Given the description of an element on the screen output the (x, y) to click on. 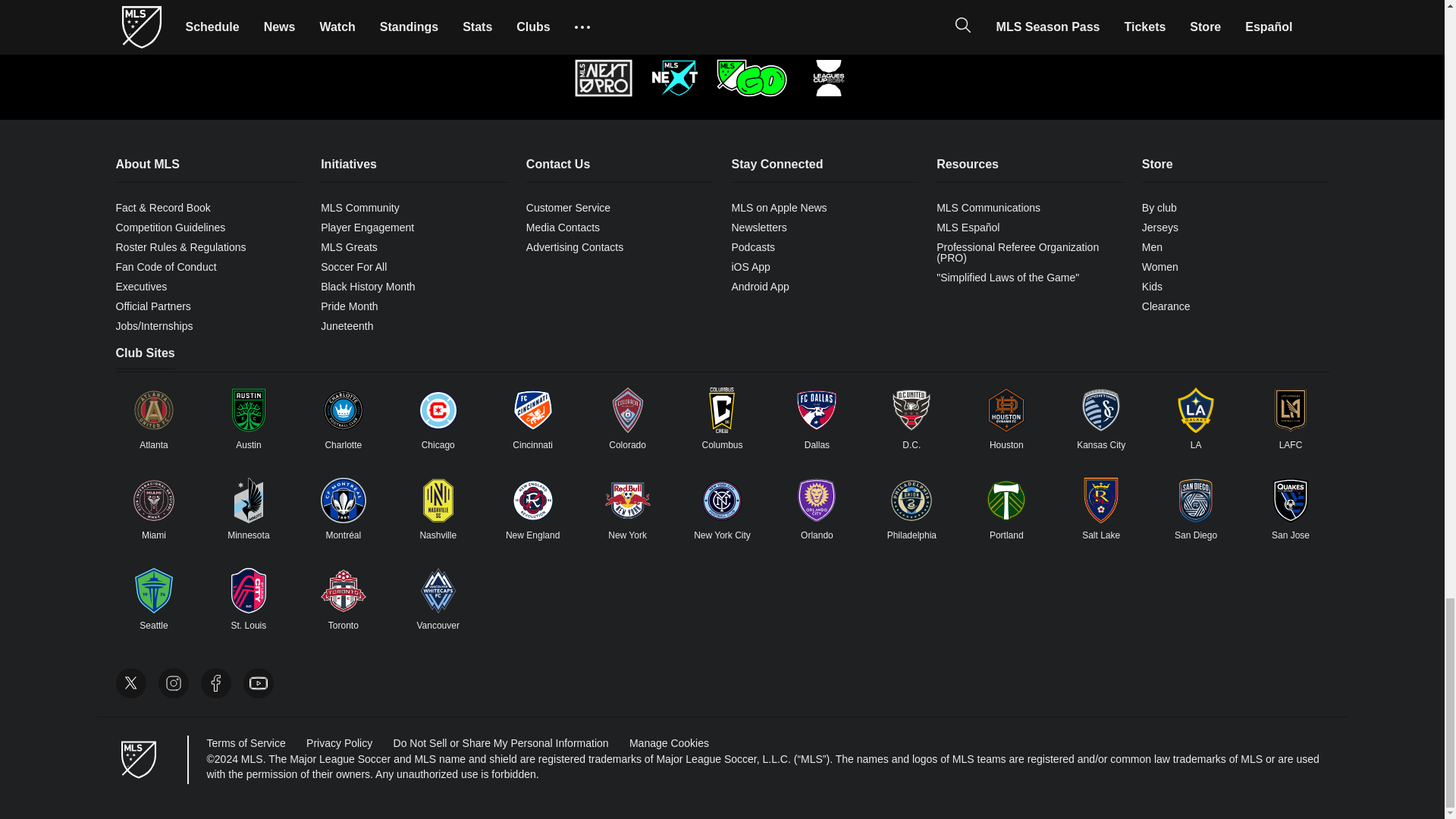
Link to Austin (247, 410)
Link to Charlotte (343, 410)
Link to Colorado (627, 410)
Link to Atlanta (153, 410)
Link to Chicago (437, 410)
Link to Cincinnati (533, 410)
